Given the description of an element on the screen output the (x, y) to click on. 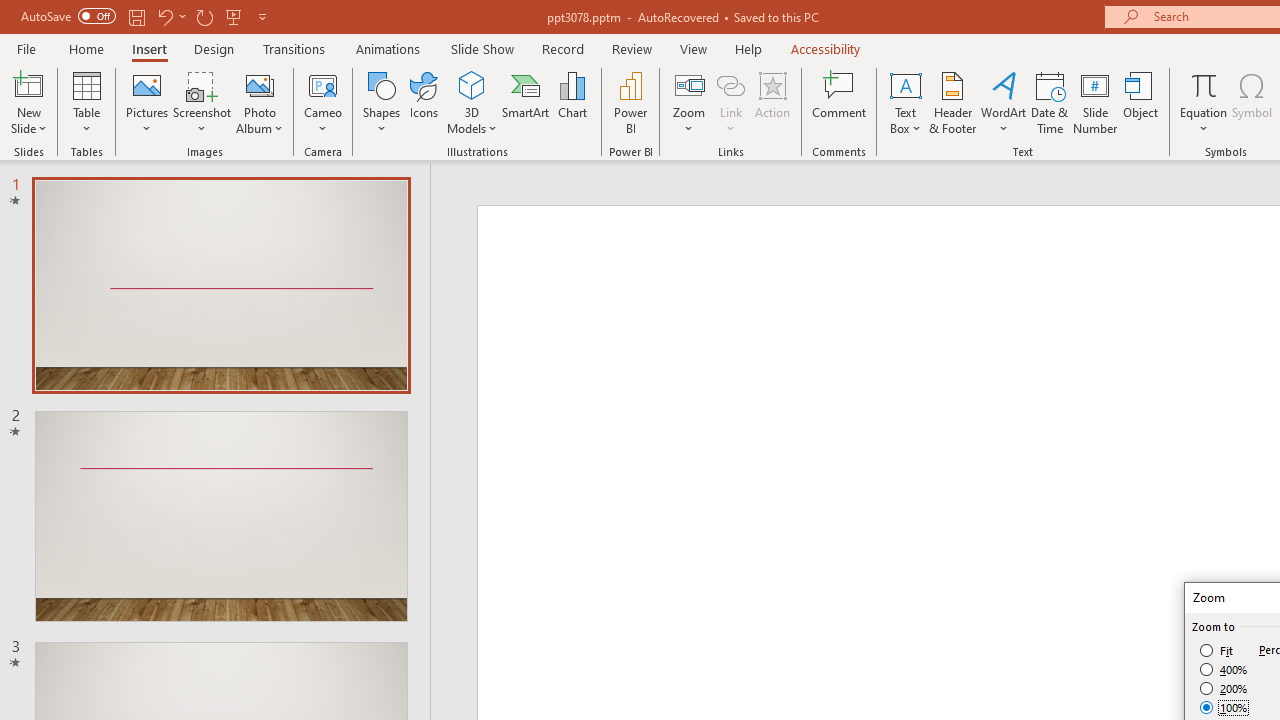
Object... (1141, 102)
Action (772, 102)
SmartArt... (525, 102)
Chart... (572, 102)
200% (1224, 688)
